Given the description of an element on the screen output the (x, y) to click on. 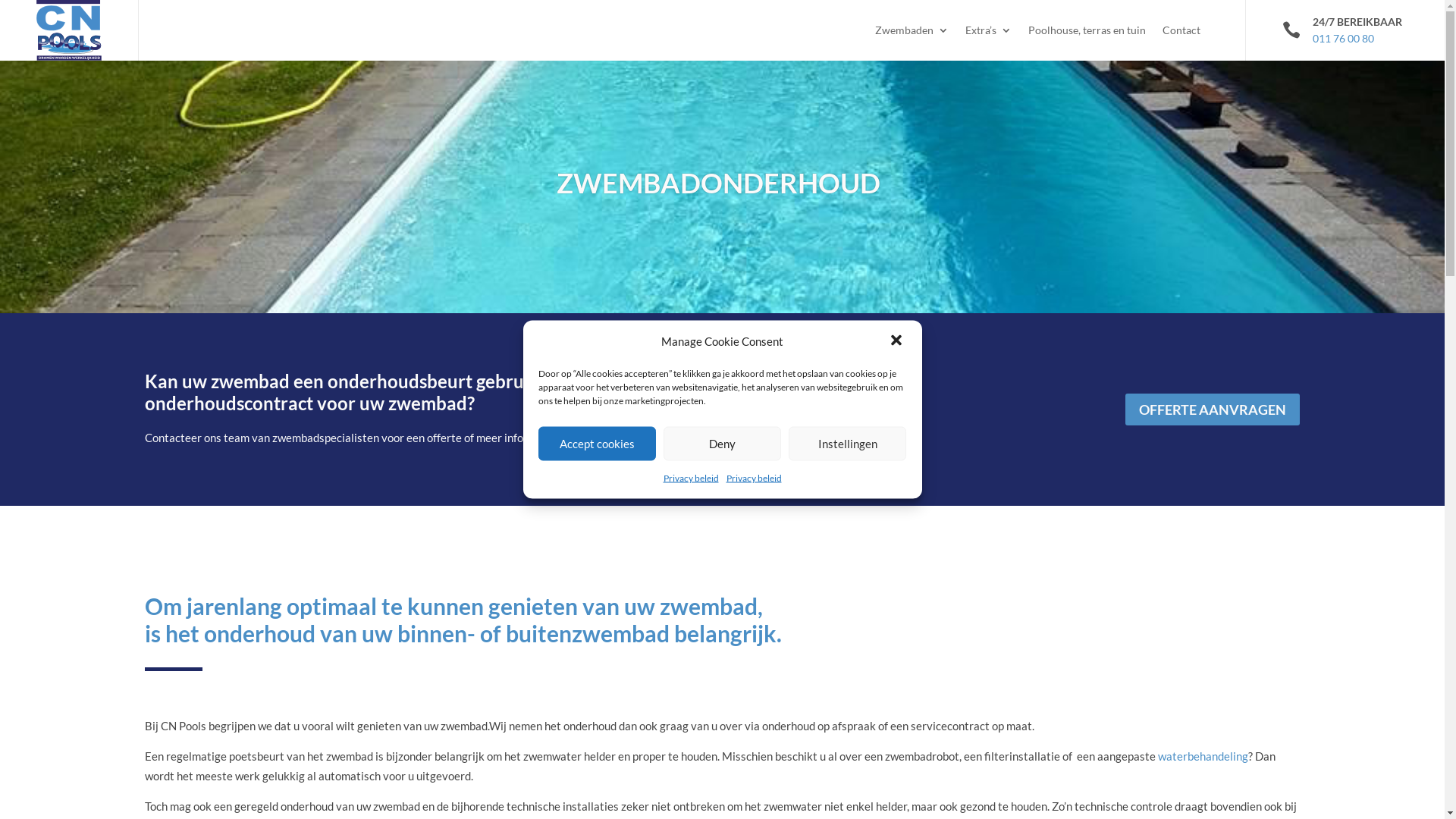
011 76 00 80 Element type: text (1345, 30)
Accept cookies Element type: text (596, 443)
Privacy beleid Element type: text (690, 477)
Privacy beleid Element type: text (753, 477)
binnen- of buitenzwembad Element type: text (533, 632)
Poolhouse, terras en tuin Element type: text (1086, 30)
Instellingen Element type: text (847, 443)
waterbehandeling Element type: text (1202, 755)
OFFERTE AANVRAGEN Element type: text (1212, 408)
Contact Element type: text (1181, 30)
Zwembaden Element type: text (911, 30)
Deny Element type: text (722, 443)
